Given the description of an element on the screen output the (x, y) to click on. 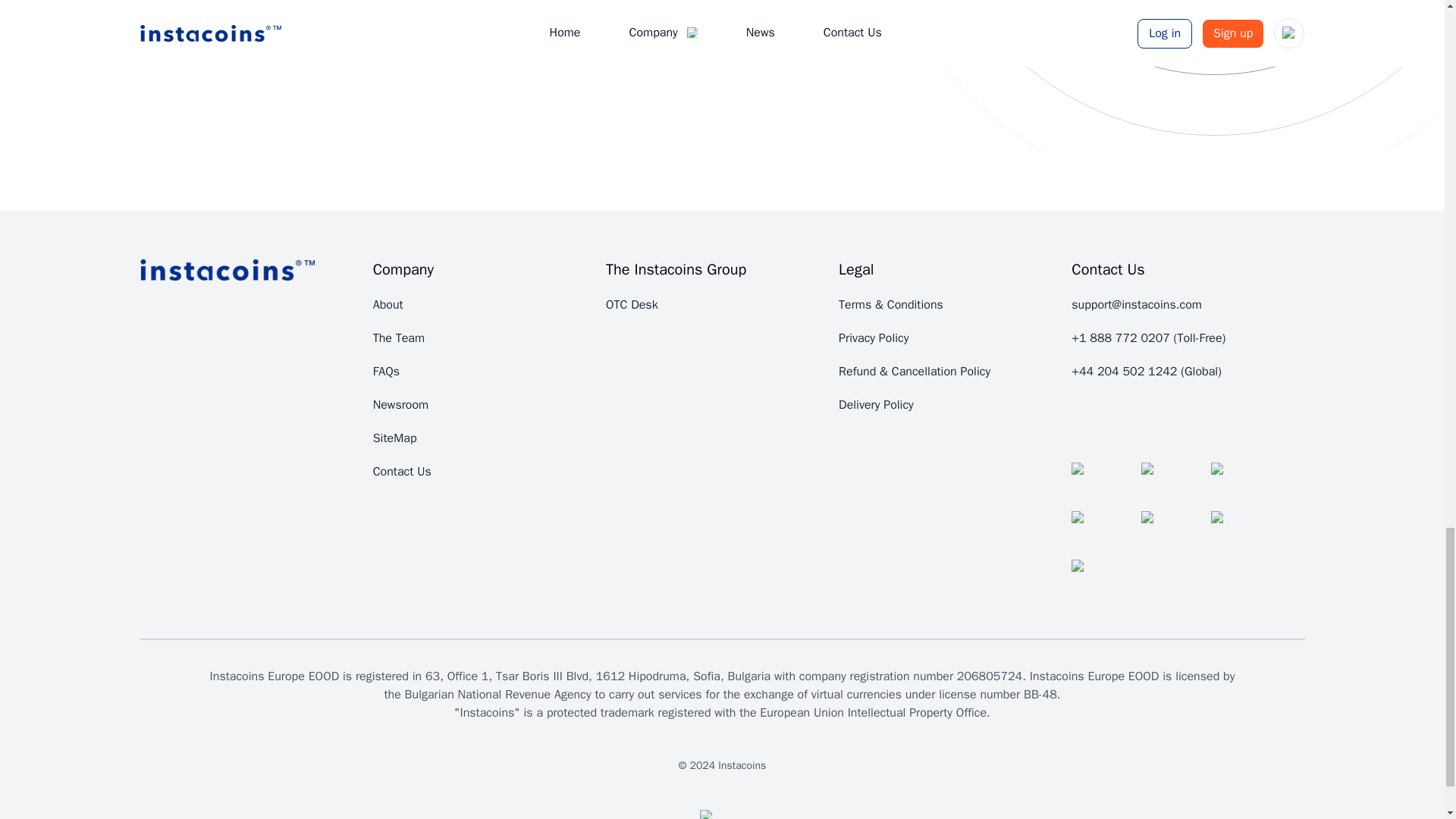
Delivery Policy (876, 404)
About (387, 304)
Privacy Policy (873, 337)
SiteMap (394, 437)
OTC Desk (631, 304)
The Team (398, 337)
FAQs (385, 371)
Newsroom (400, 404)
Contact Us (401, 471)
